Given the description of an element on the screen output the (x, y) to click on. 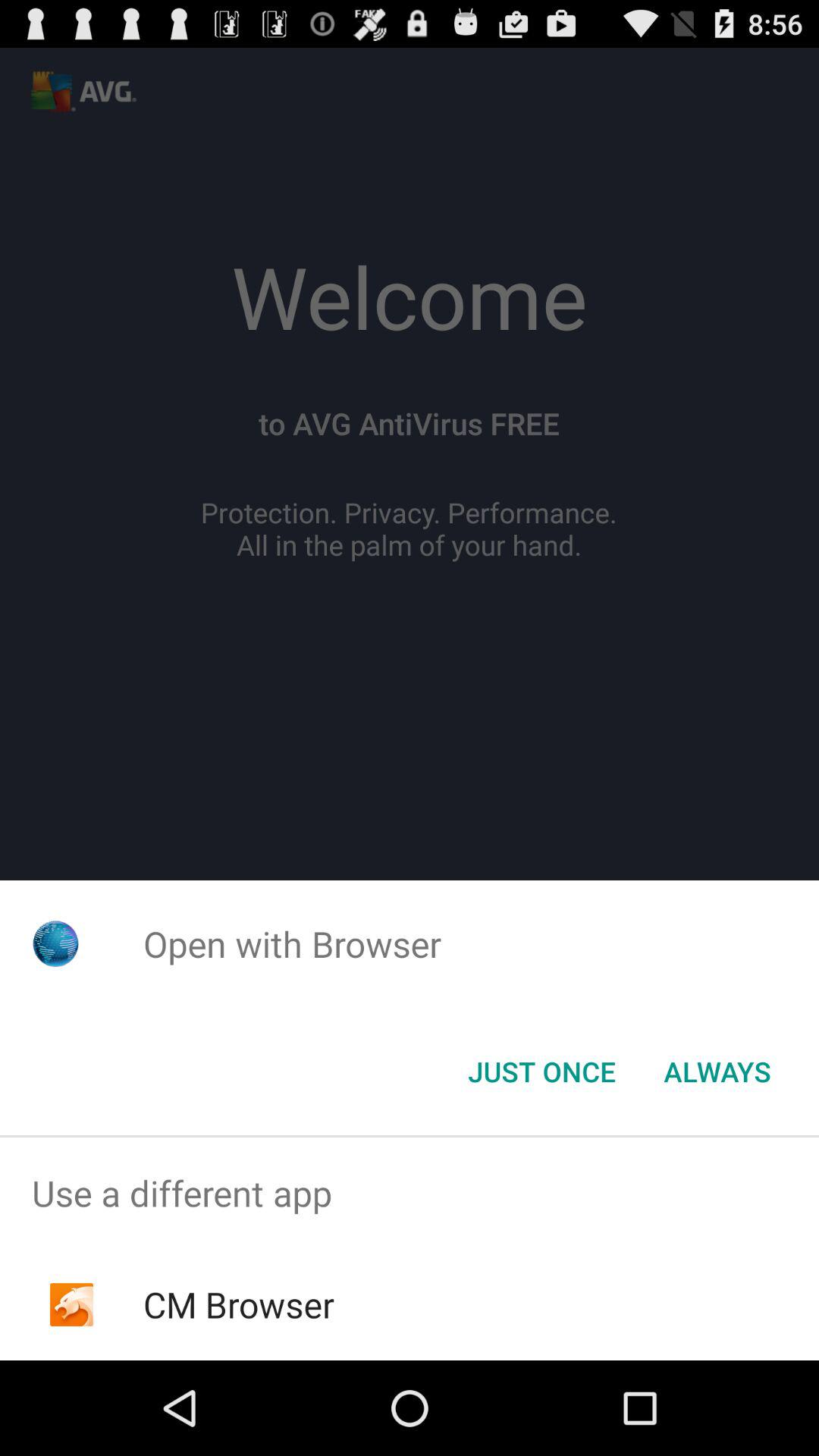
press button next to the just once (717, 1071)
